Given the description of an element on the screen output the (x, y) to click on. 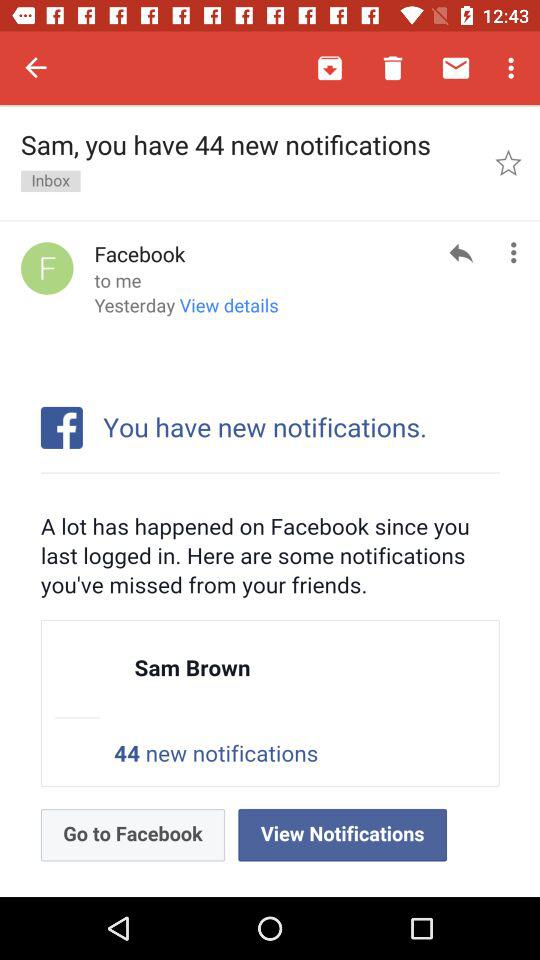
choose item to the right of yesterday view details item (460, 252)
